Given the description of an element on the screen output the (x, y) to click on. 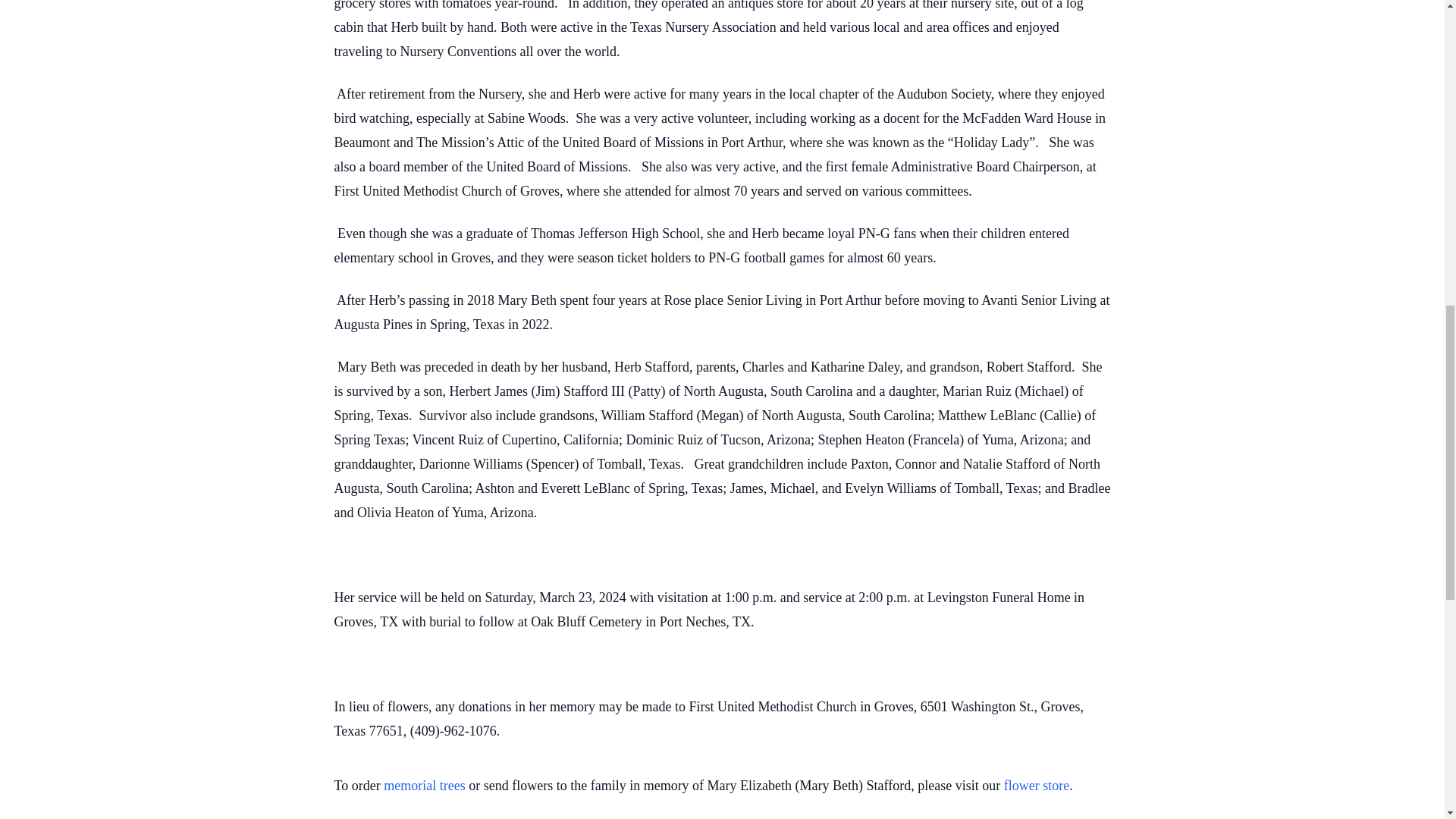
memorial trees (424, 785)
flower store (1036, 785)
